Given the description of an element on the screen output the (x, y) to click on. 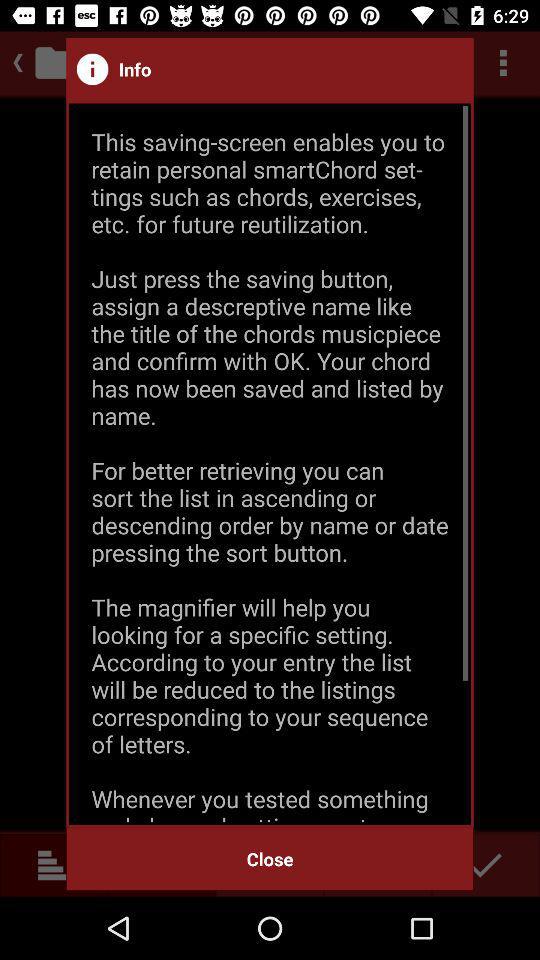
launch the close item (269, 858)
